Given the description of an element on the screen output the (x, y) to click on. 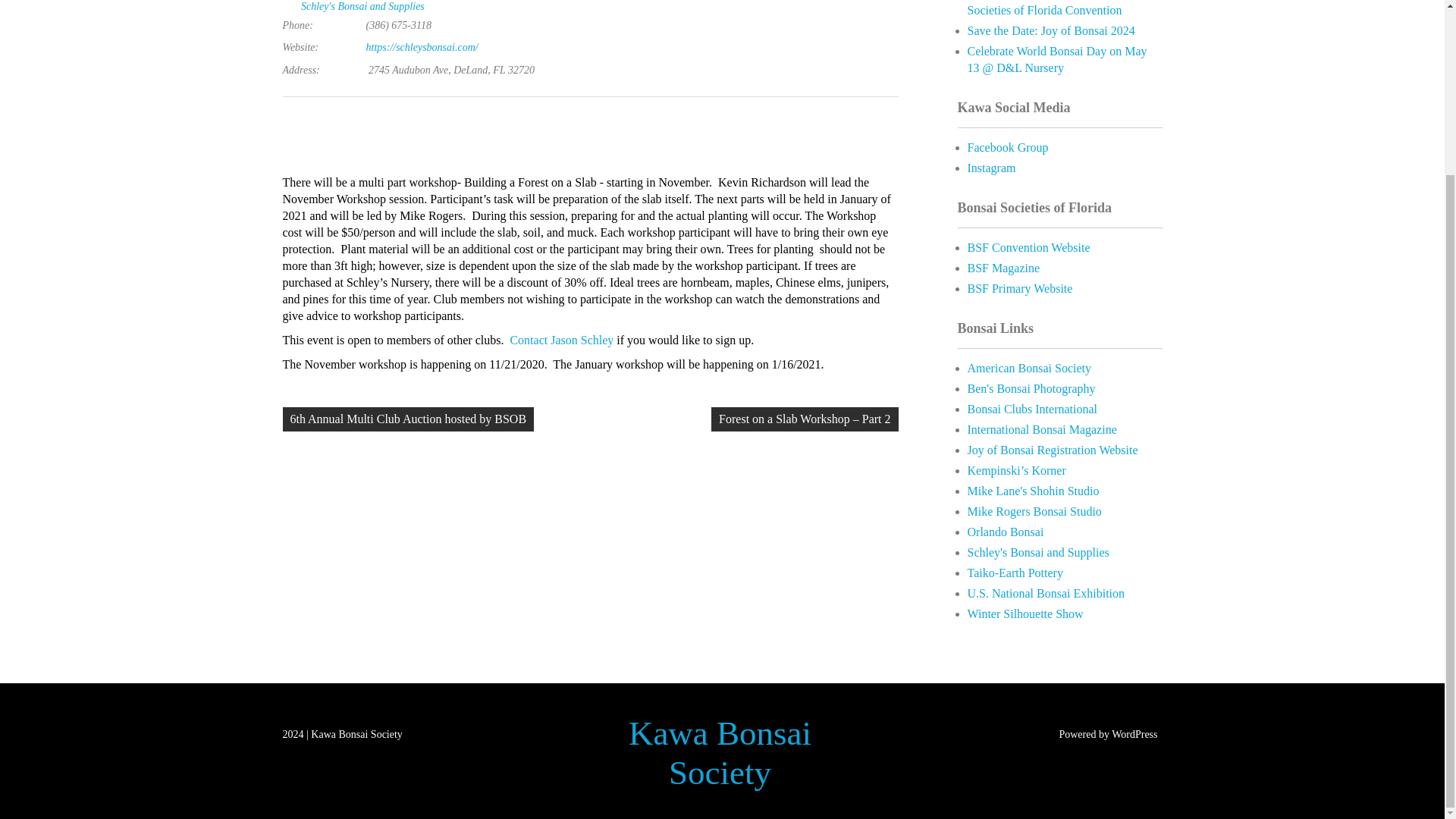
Ben's Bonsai Photography (1032, 388)
Joy of Bonsai Registration Website (1053, 449)
Bonsai Society of Brevard (1016, 470)
Save the Date: Joy of Bonsai 2024 (1051, 30)
BSF Magazine (1004, 267)
International Bonsai Magazine (1042, 429)
Schley's Bonsai and Supplies (363, 6)
Venue (290, 4)
BSF Primary Website (1020, 287)
Free Magazine (1042, 429)
Bonsai Clubs International (1032, 408)
Contact Jason Schley (560, 339)
Facebook Group (1008, 146)
American Bonsai Society (1030, 367)
